Given the description of an element on the screen output the (x, y) to click on. 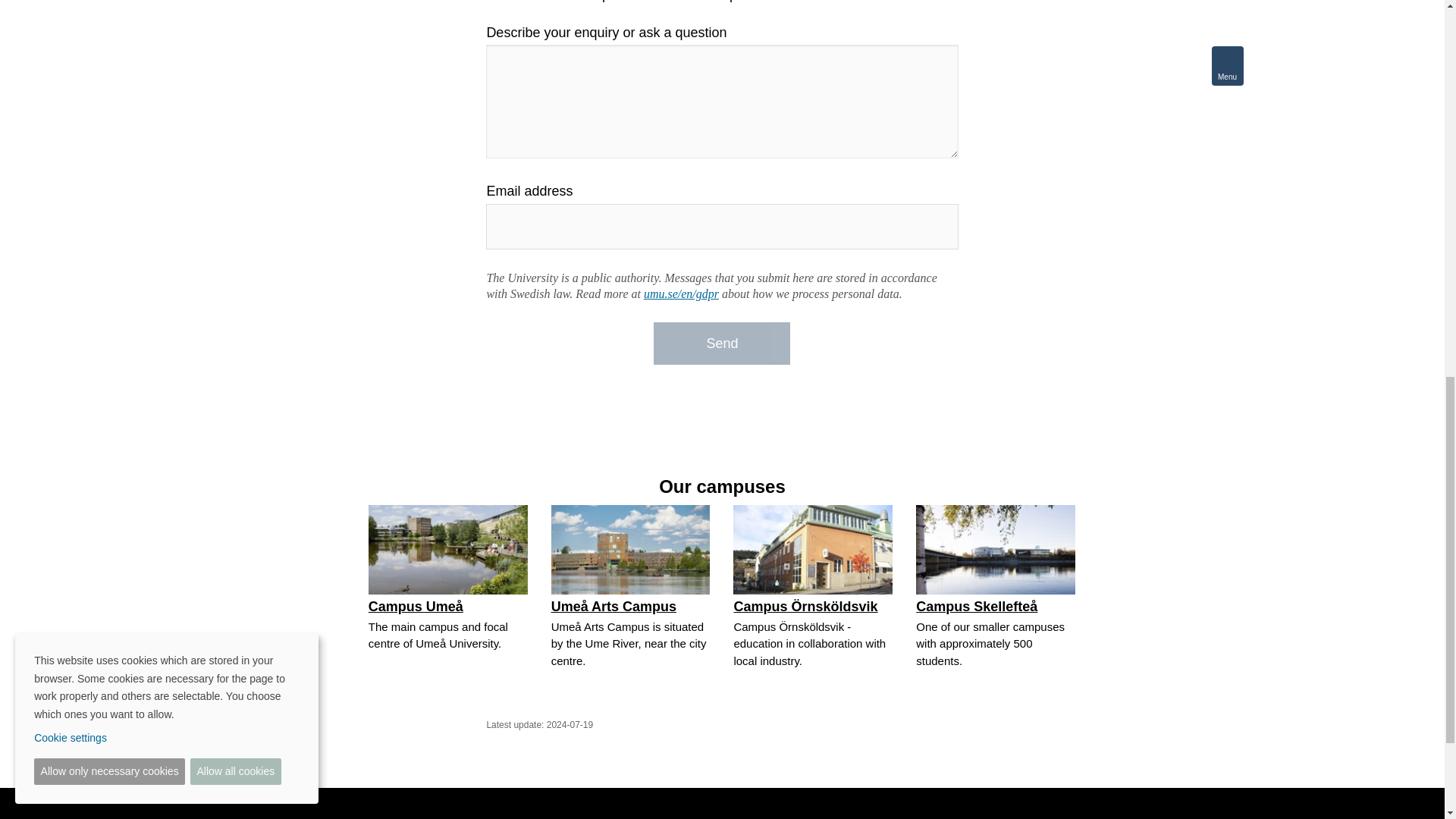
Send (721, 343)
